Given the description of an element on the screen output the (x, y) to click on. 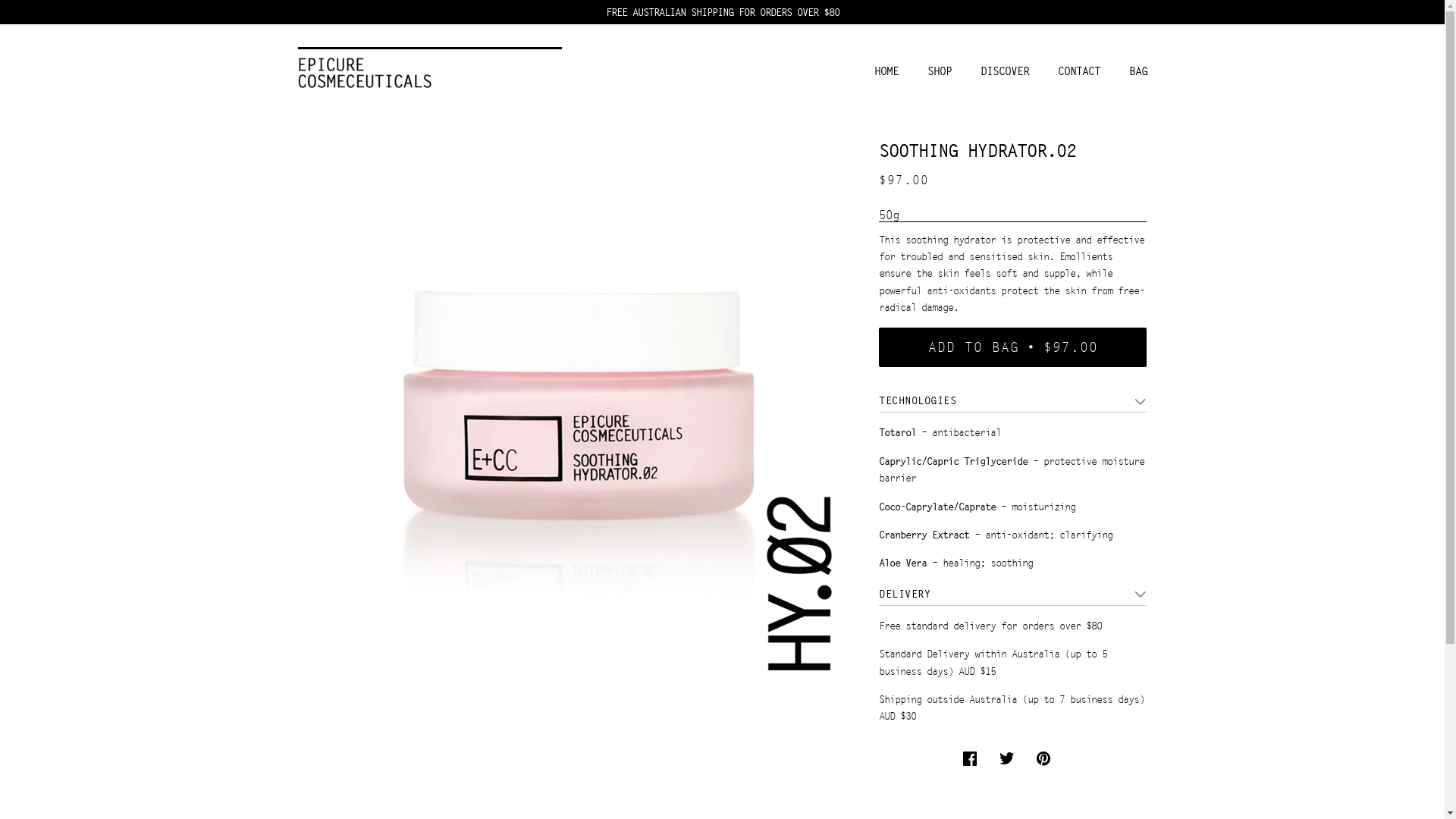
CONTACT Element type: text (1078, 71)
DELIVERY Element type: text (1012, 593)
TECHNOLOGIES Element type: text (1012, 400)
DISCOVER Element type: text (1003, 71)
BAG Element type: text (1137, 71)
SHOP Element type: text (938, 71)
HOME Element type: text (885, 71)
